Given the description of an element on the screen output the (x, y) to click on. 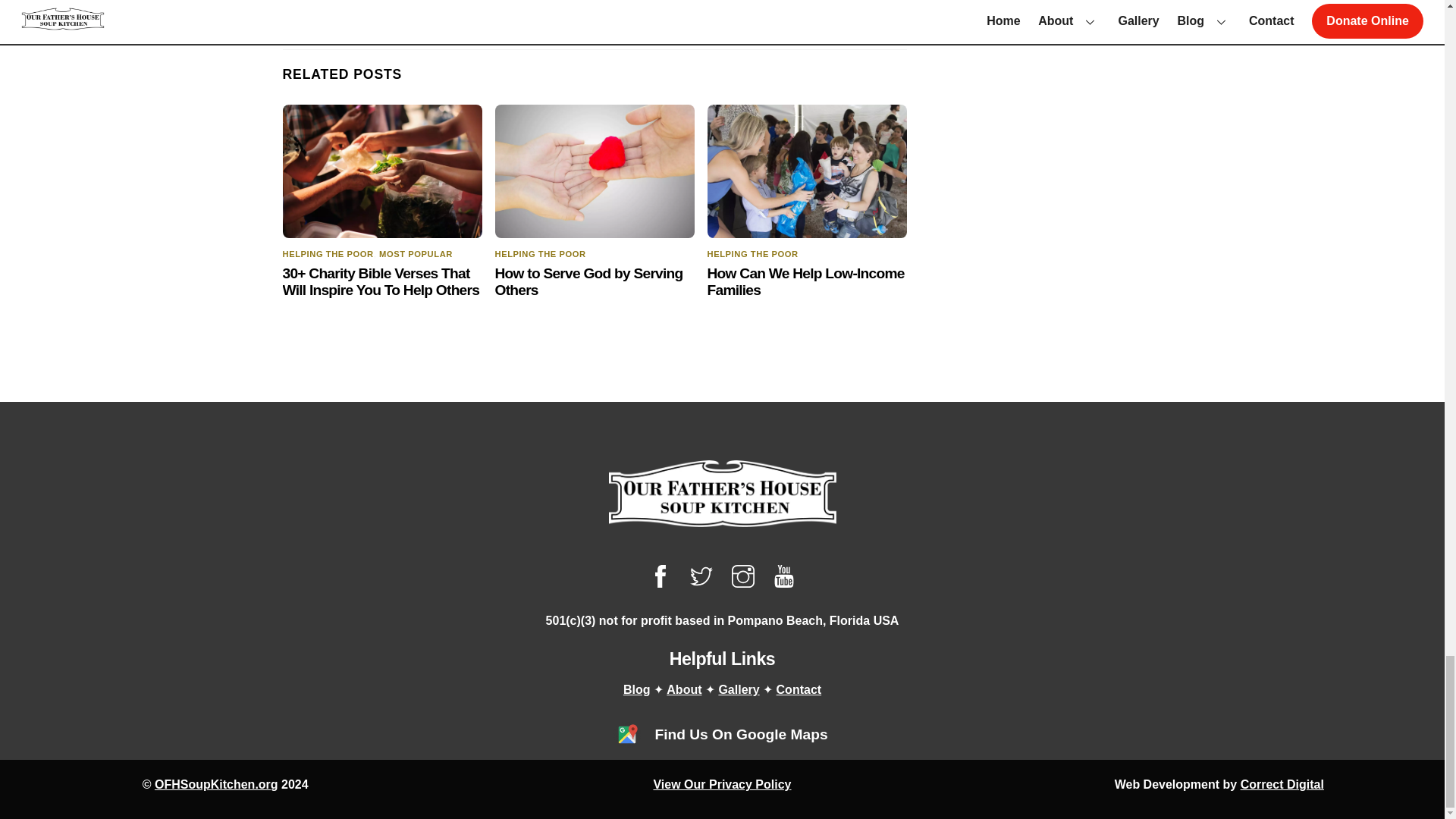
How Can We Help Low-Income Families (805, 281)
HELPING THE POOR (327, 253)
HELPING THE POOR (540, 253)
Where and How to Donate Wedding Dress to Charity (746, 3)
What You Need to Know About Thrift Store Donations (441, 3)
Find Us On Google Maps (627, 734)
MOST POPULAR (415, 253)
How to Serve God by Serving Others (588, 281)
Our-Fathers-house-soup-kitchen-logo (721, 493)
HELPING THE POOR (752, 253)
How Can We Help Low-Income Families (807, 171)
How to Serve God by Serving Others (595, 171)
